Given the description of an element on the screen output the (x, y) to click on. 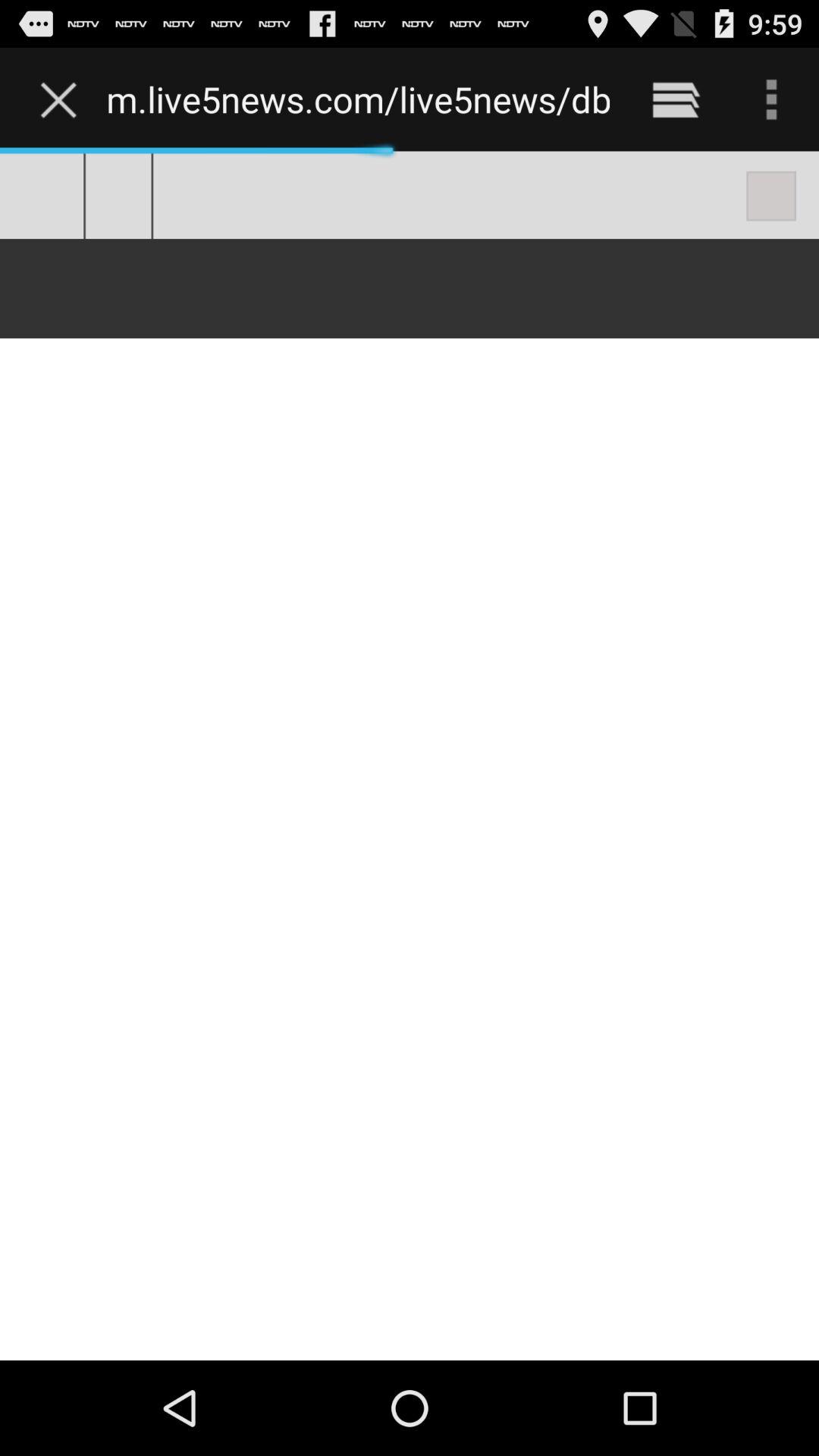
choose the item next to the m live5news com item (62, 99)
